Given the description of an element on the screen output the (x, y) to click on. 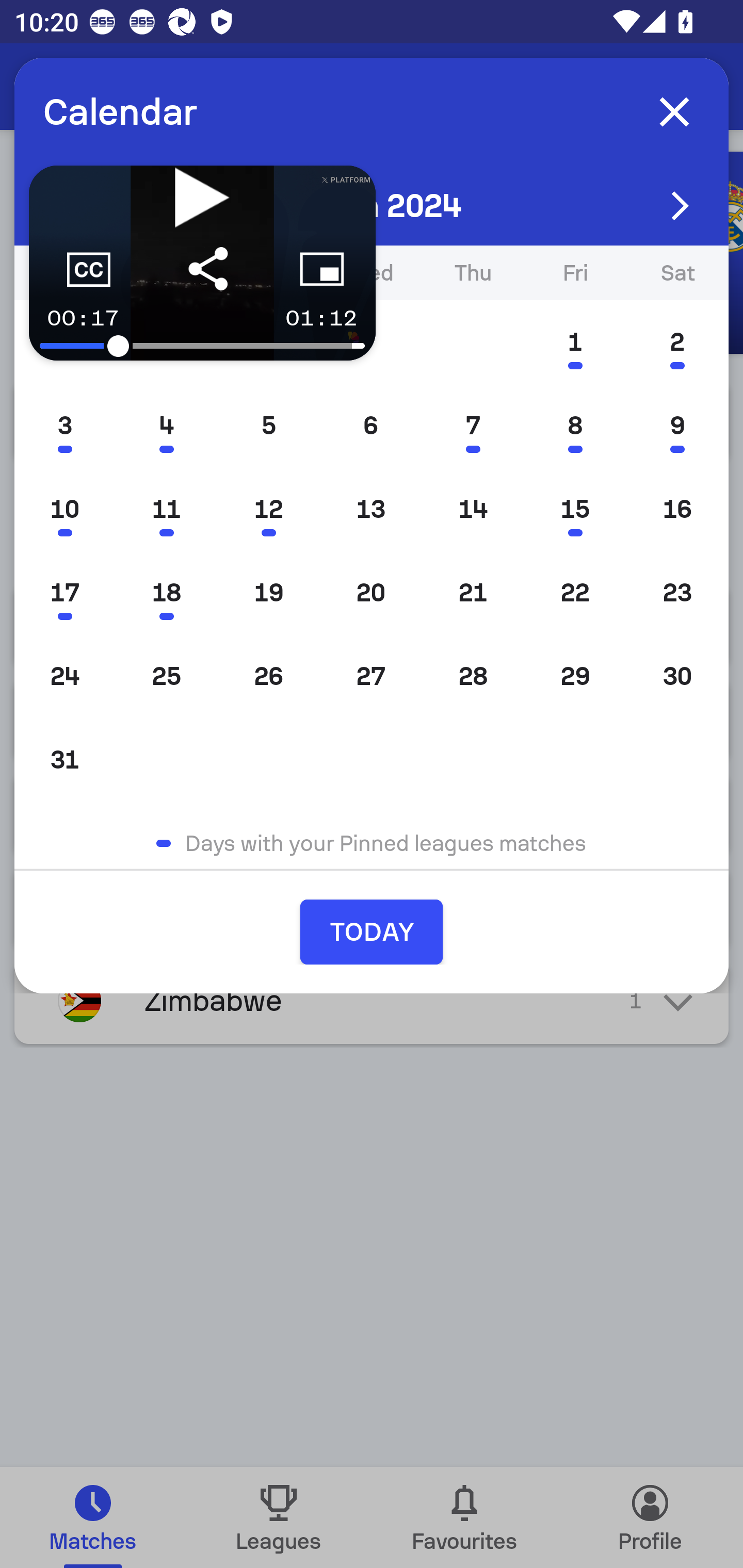
1 (575, 341)
2 (677, 341)
3 (64, 425)
4 (166, 425)
5 (268, 425)
6 (371, 425)
7 (473, 425)
8 (575, 425)
9 (677, 425)
10 (64, 508)
11 (166, 508)
12 (268, 508)
13 (371, 508)
14 (473, 508)
15 (575, 508)
16 (677, 508)
17 (64, 592)
18 (166, 592)
19 (268, 592)
20 (371, 592)
21 (473, 592)
22 (575, 592)
23 (677, 592)
24 (64, 676)
25 (166, 676)
26 (268, 676)
27 (371, 676)
28 (473, 676)
29 (575, 676)
30 (677, 676)
31 (64, 759)
TODAY (371, 932)
